Given the description of an element on the screen output the (x, y) to click on. 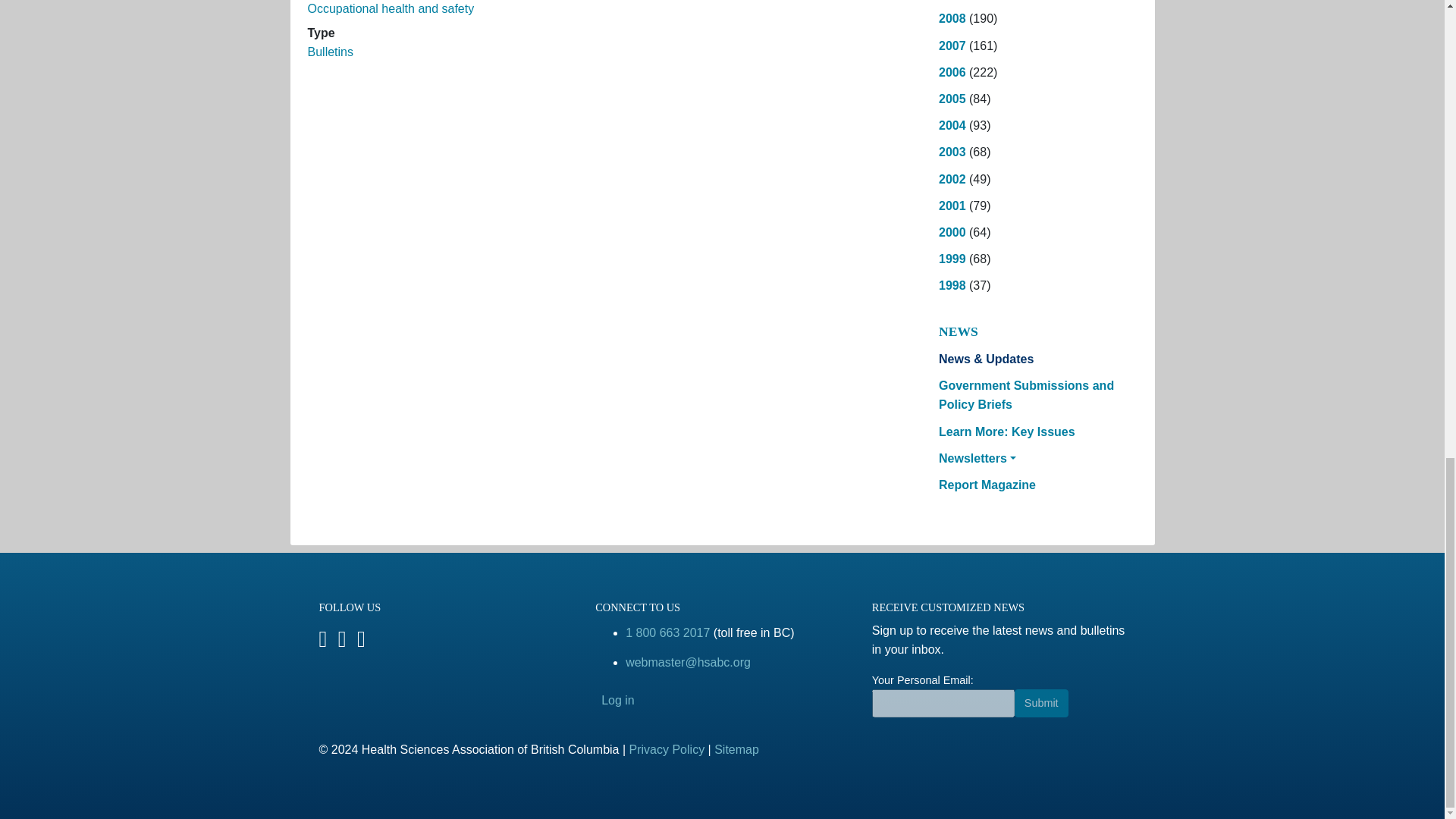
Site Map (736, 748)
privacy policy (666, 748)
Telephone HSA (668, 632)
Email Webmaster (688, 662)
